Given the description of an element on the screen output the (x, y) to click on. 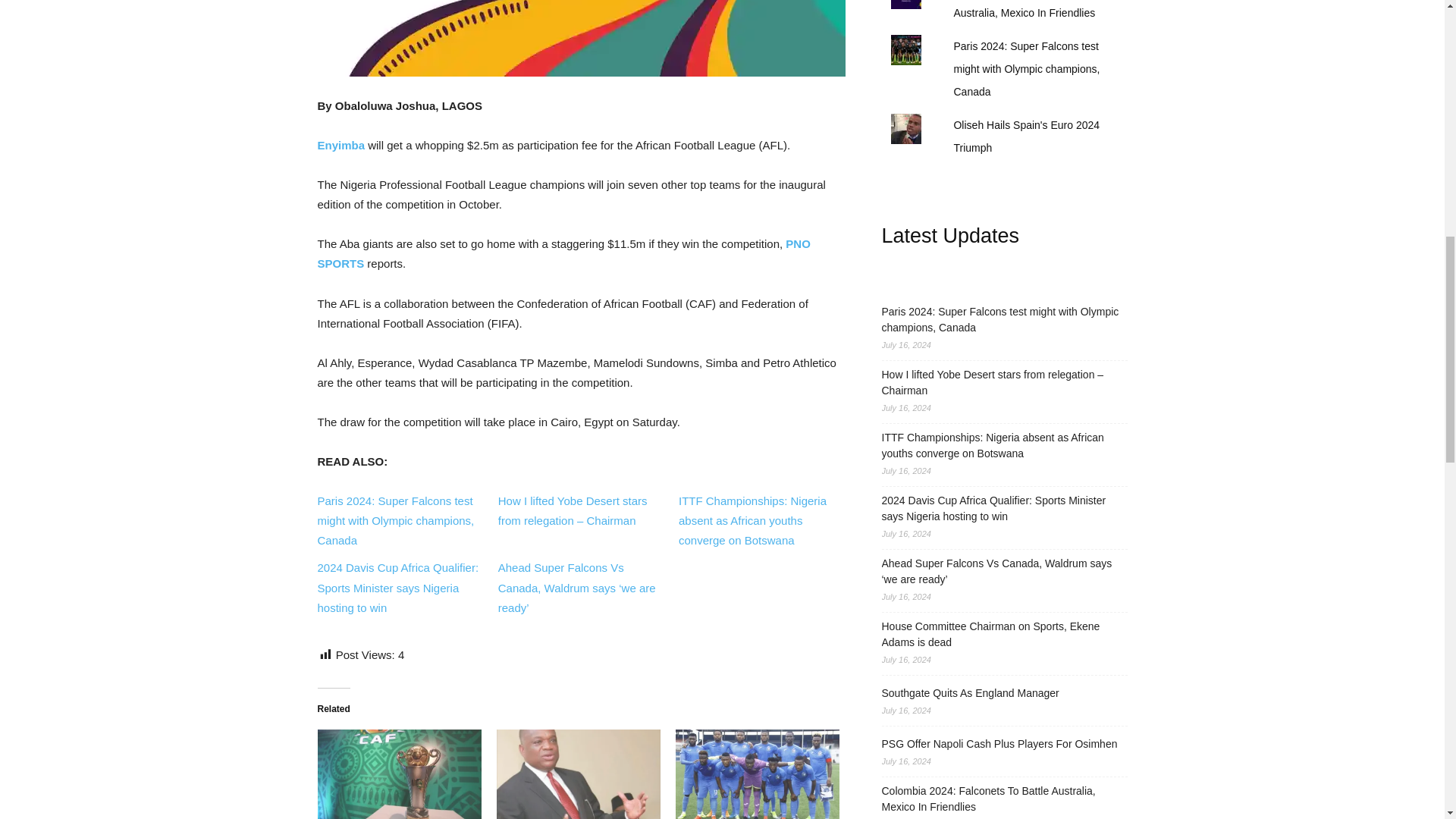
CAF CC: Rivers United, Enyimba get North African opponents (398, 774)
african-football-league-logo (580, 38)
